Given the description of an element on the screen output the (x, y) to click on. 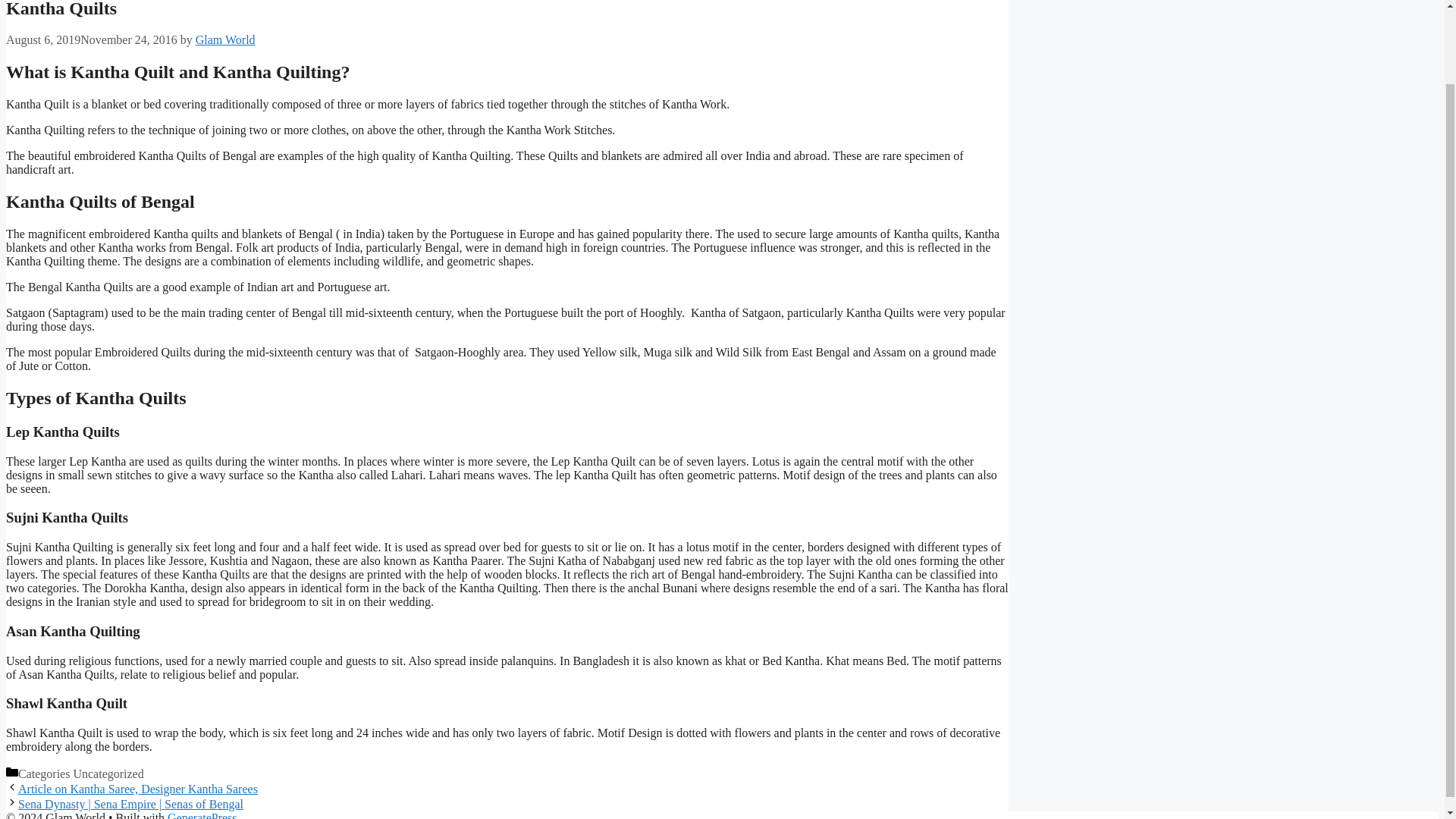
Glam World (225, 39)
View all posts by Glam World (225, 39)
Article on Kantha Saree, Designer Kantha Sarees (137, 788)
